Given the description of an element on the screen output the (x, y) to click on. 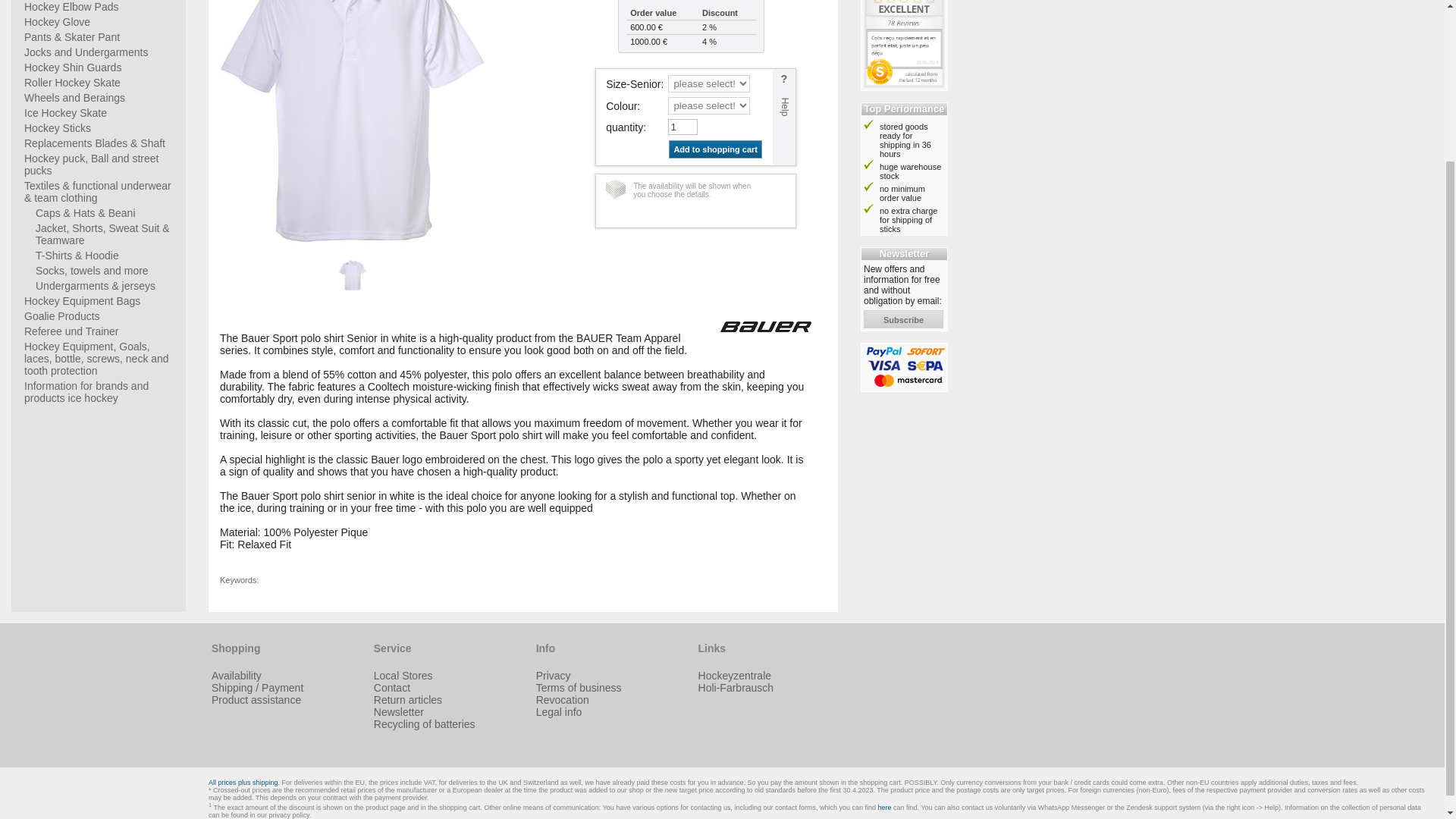
Holi Festival und Holi Tickets (736, 687)
1 (682, 126)
Hockey Shop und Produkte (734, 675)
Sizing and product infos (783, 116)
Bauer Sport Polo shortsleeve Senior white (351, 122)
Add item to shopping cart (714, 149)
BAUER (765, 326)
